Given the description of an element on the screen output the (x, y) to click on. 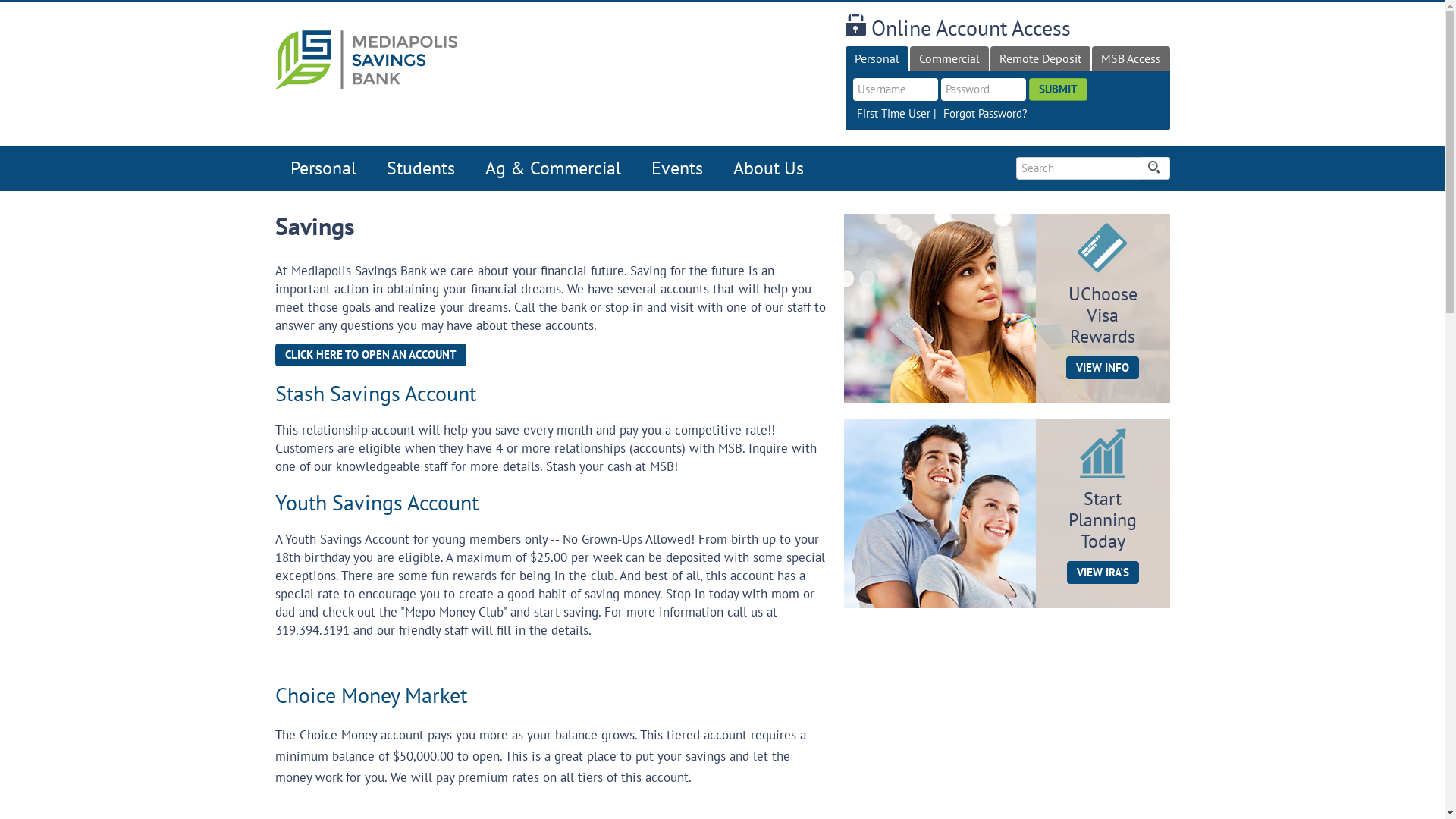
Commercial Element type: text (949, 58)
Forgot Password? Element type: text (985, 113)
First Time User Element type: text (893, 113)
Personal Element type: text (875, 58)
SUBMIT Element type: text (1057, 89)
CLICK HERE TO OPEN AN ACCOUNT Element type: text (369, 354)
VIEW IRA'S Element type: text (1102, 572)
Mediapolis Savings Bank Element type: hover (367, 58)
Remote Deposit Element type: text (1040, 58)
VIEW INFO Element type: text (1102, 367)
GO
SEARCH ICON Element type: text (1154, 167)
MSB Access Element type: text (1131, 58)
